Given the description of an element on the screen output the (x, y) to click on. 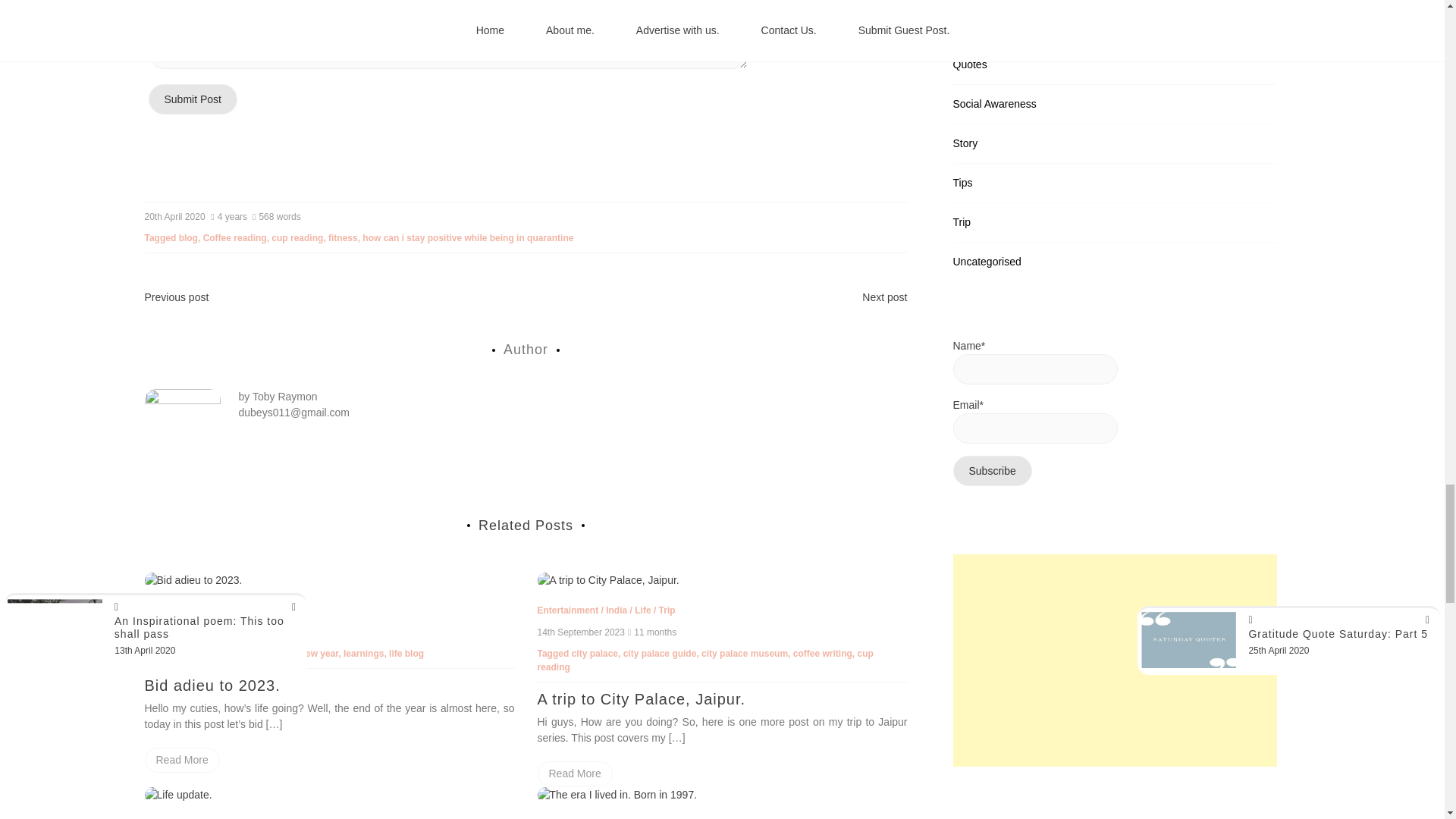
how can i stay positive while being in quarantine (467, 237)
blog (188, 237)
4 years (229, 216)
Subscribe (991, 470)
Submit Post (192, 99)
568 words (276, 216)
Coffee reading (234, 237)
Submit Post (192, 99)
Previous post (176, 297)
fitness (343, 237)
20th April 2020 (174, 216)
cup reading (296, 237)
